Given the description of an element on the screen output the (x, y) to click on. 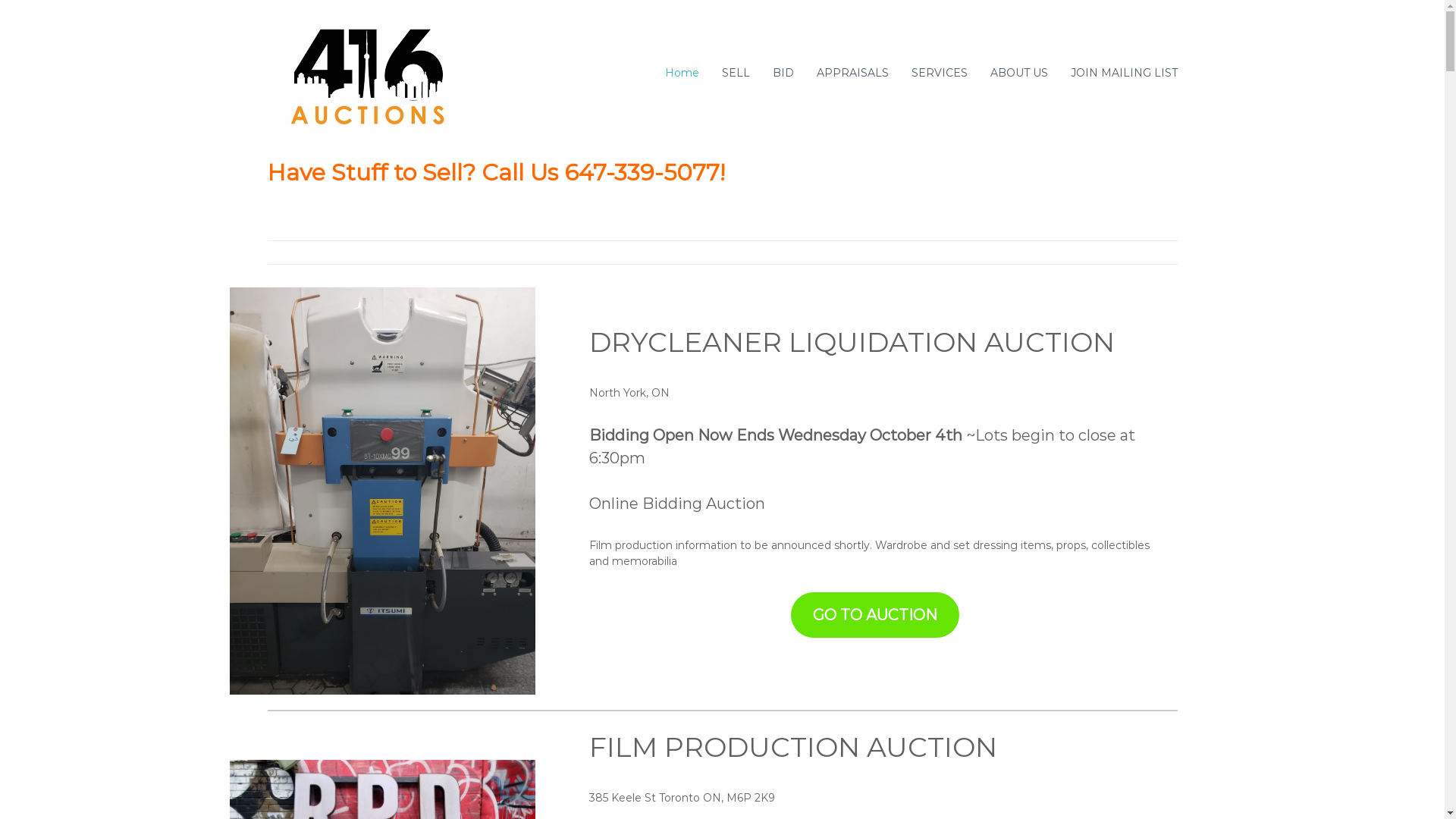
APPRAISALS Element type: text (851, 72)
GO TO AUCTION Element type: text (874, 615)
Home Element type: text (681, 72)
ABOUT US Element type: text (1019, 72)
SERVICES Element type: text (939, 72)
BID Element type: text (782, 72)
SELL Element type: text (735, 72)
JOIN MAILING LIST Element type: text (1123, 72)
